Given the description of an element on the screen output the (x, y) to click on. 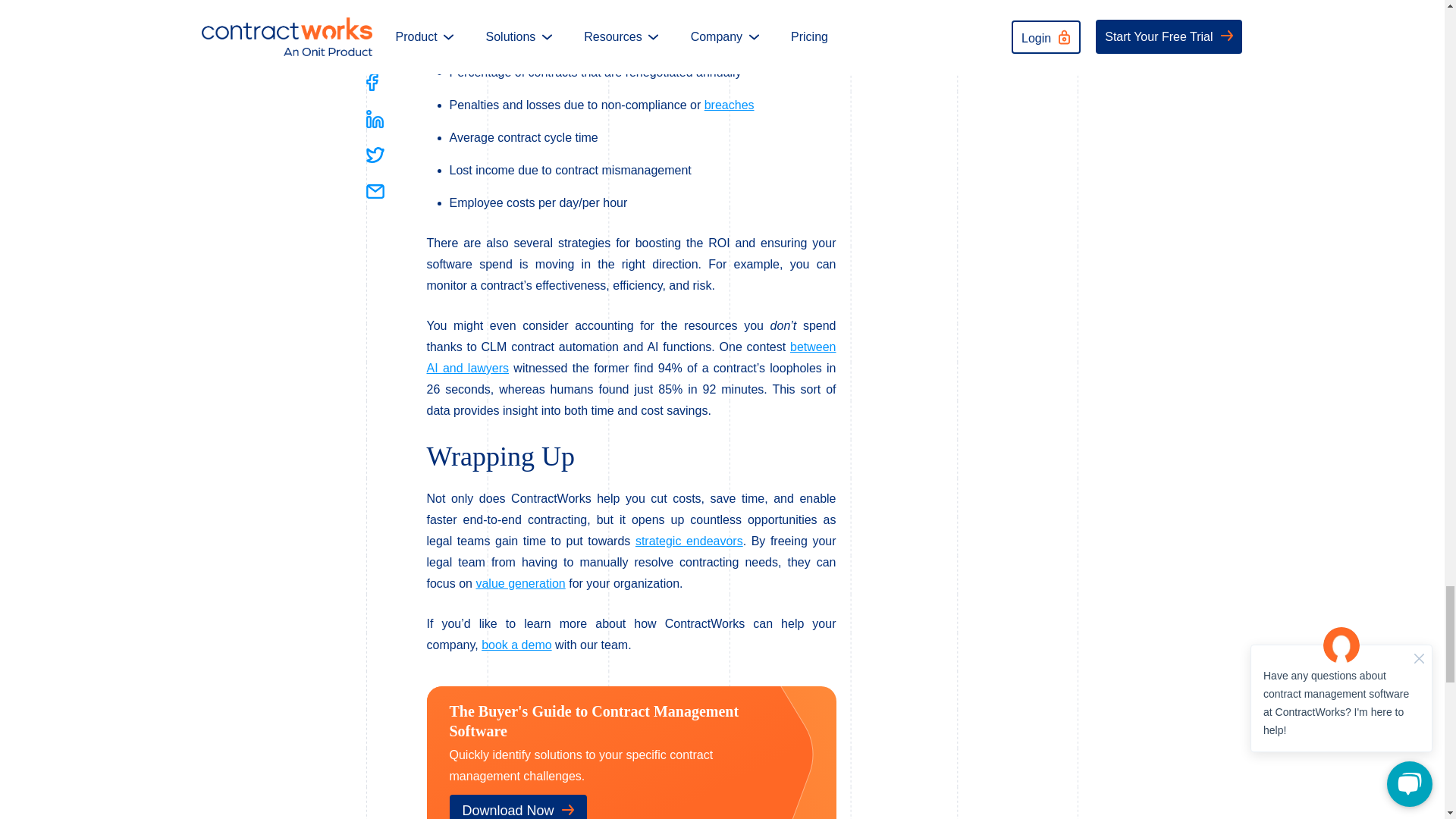
Download Now (517, 806)
